Given the description of an element on the screen output the (x, y) to click on. 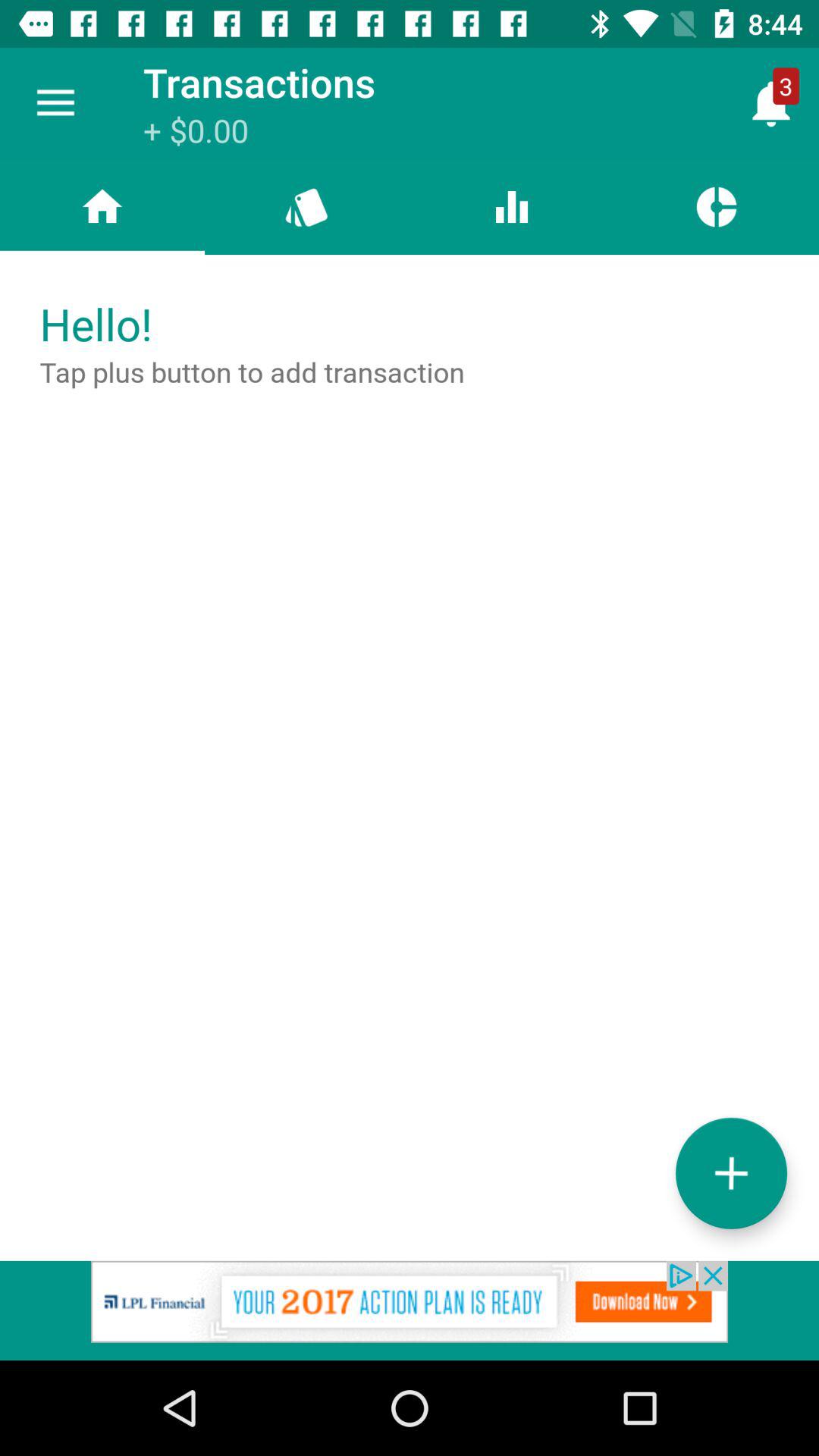
add the transactions (731, 1173)
